Given the description of an element on the screen output the (x, y) to click on. 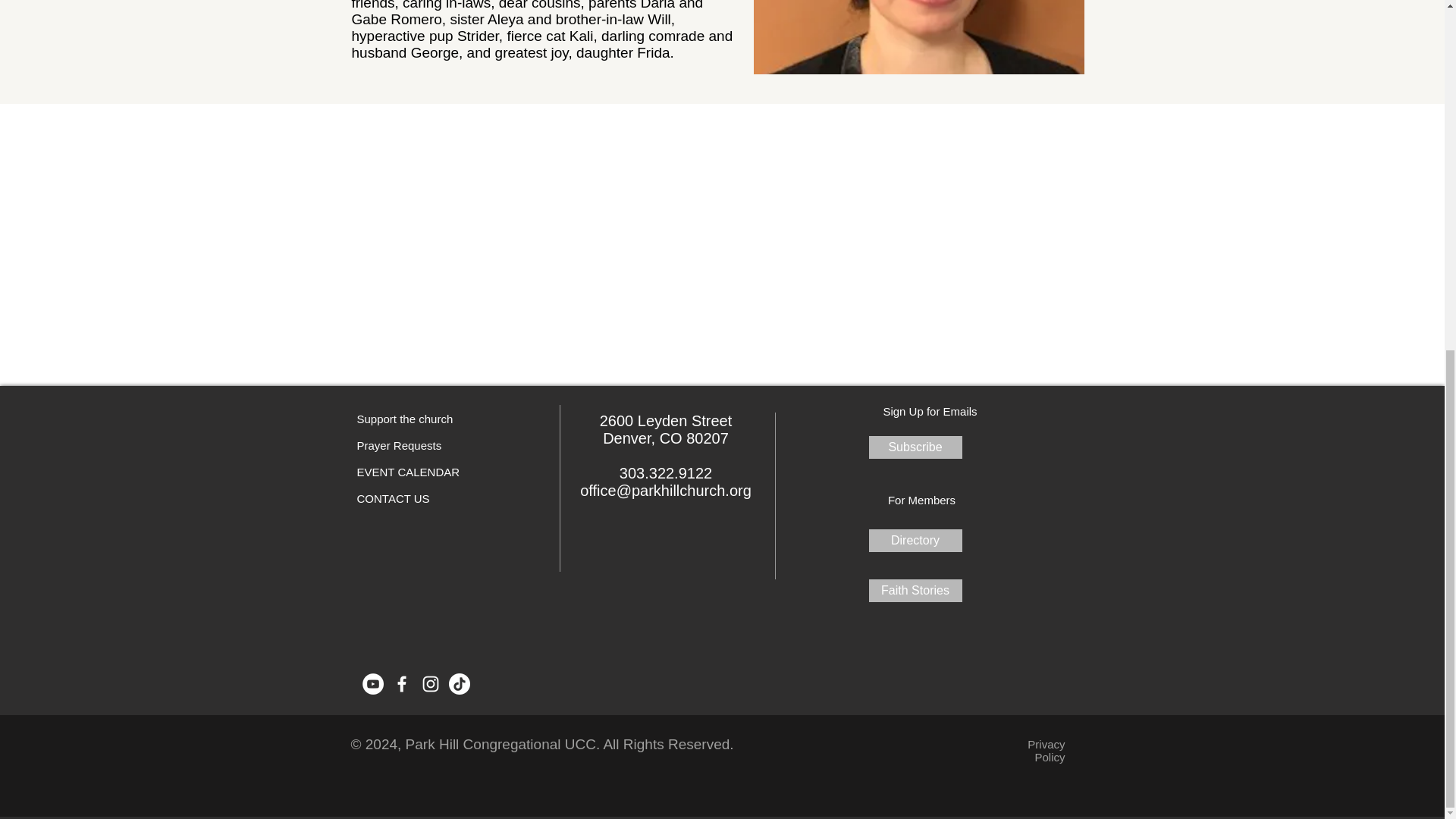
EVENT CALENDAR (408, 472)
CONTACT US (392, 498)
Prayer Requests (398, 445)
Support the church (404, 419)
